Given the description of an element on the screen output the (x, y) to click on. 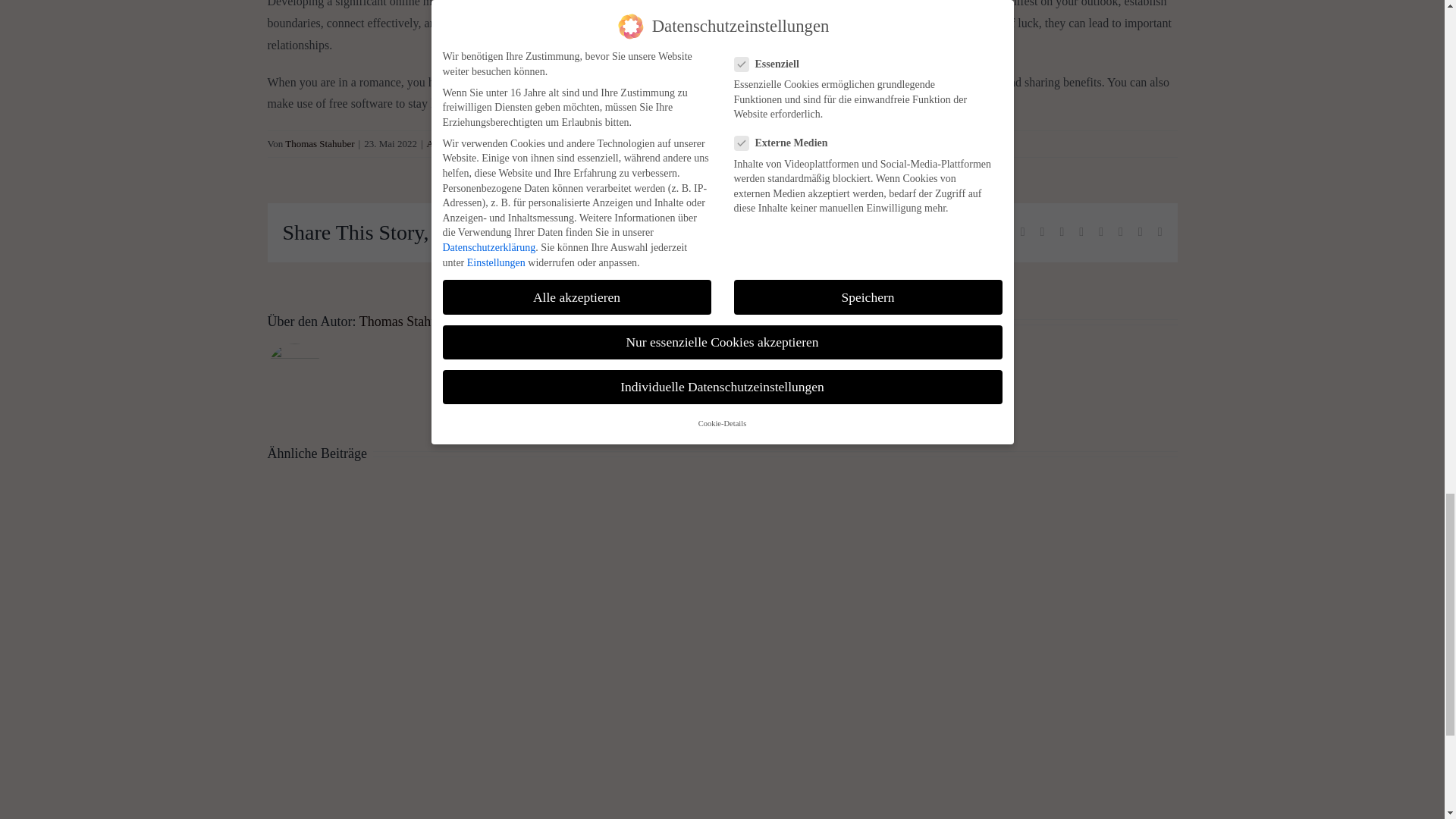
Allgemein (446, 143)
Thomas Stahuber (406, 321)
Thomas Stahuber (319, 143)
